Given the description of an element on the screen output the (x, y) to click on. 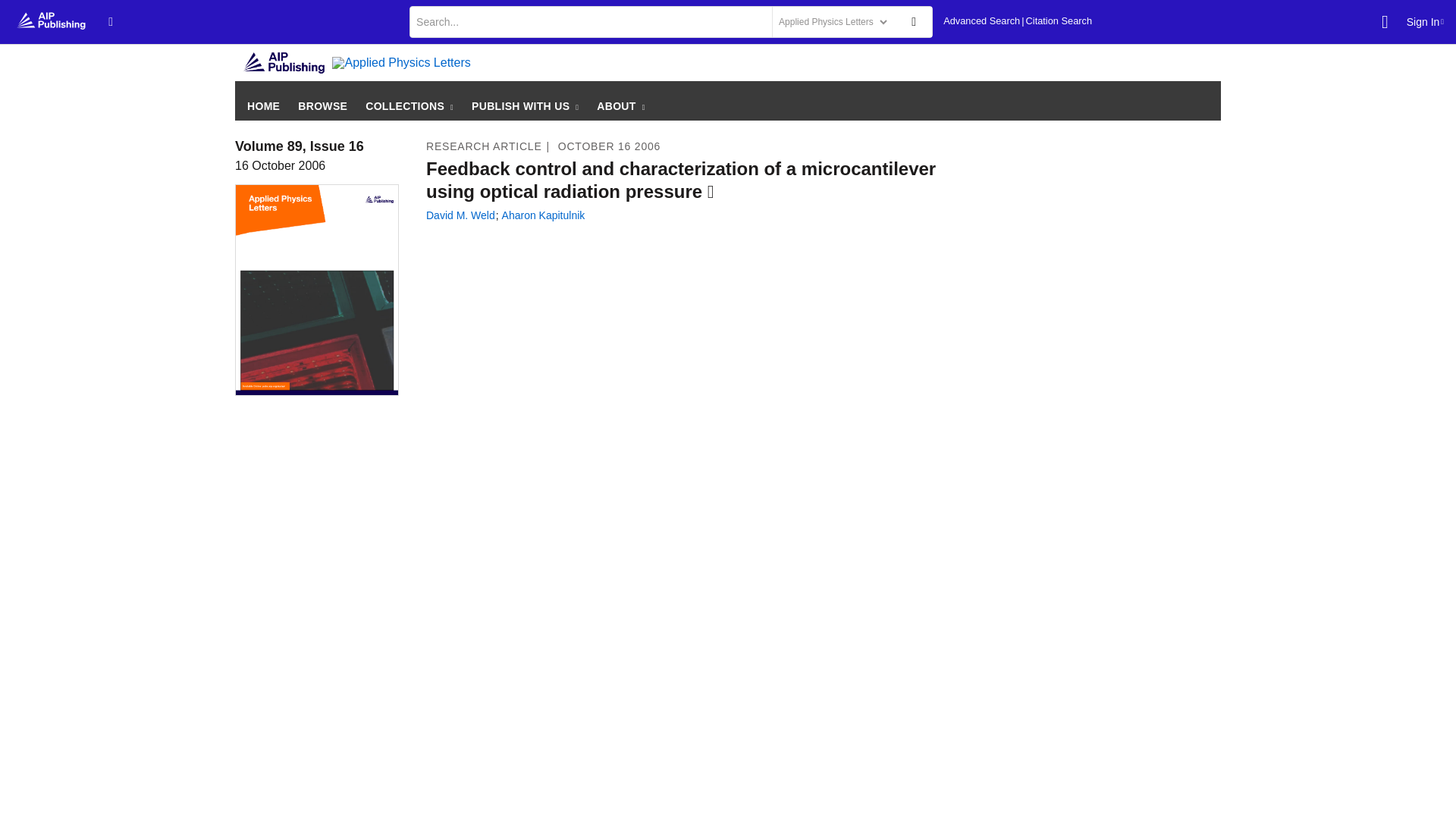
BROWSE (322, 105)
search input (589, 21)
Sign In (1425, 21)
HOME (263, 105)
Citation Search (1059, 21)
Advanced Search (981, 21)
COLLECTIONS (408, 105)
